Given the description of an element on the screen output the (x, y) to click on. 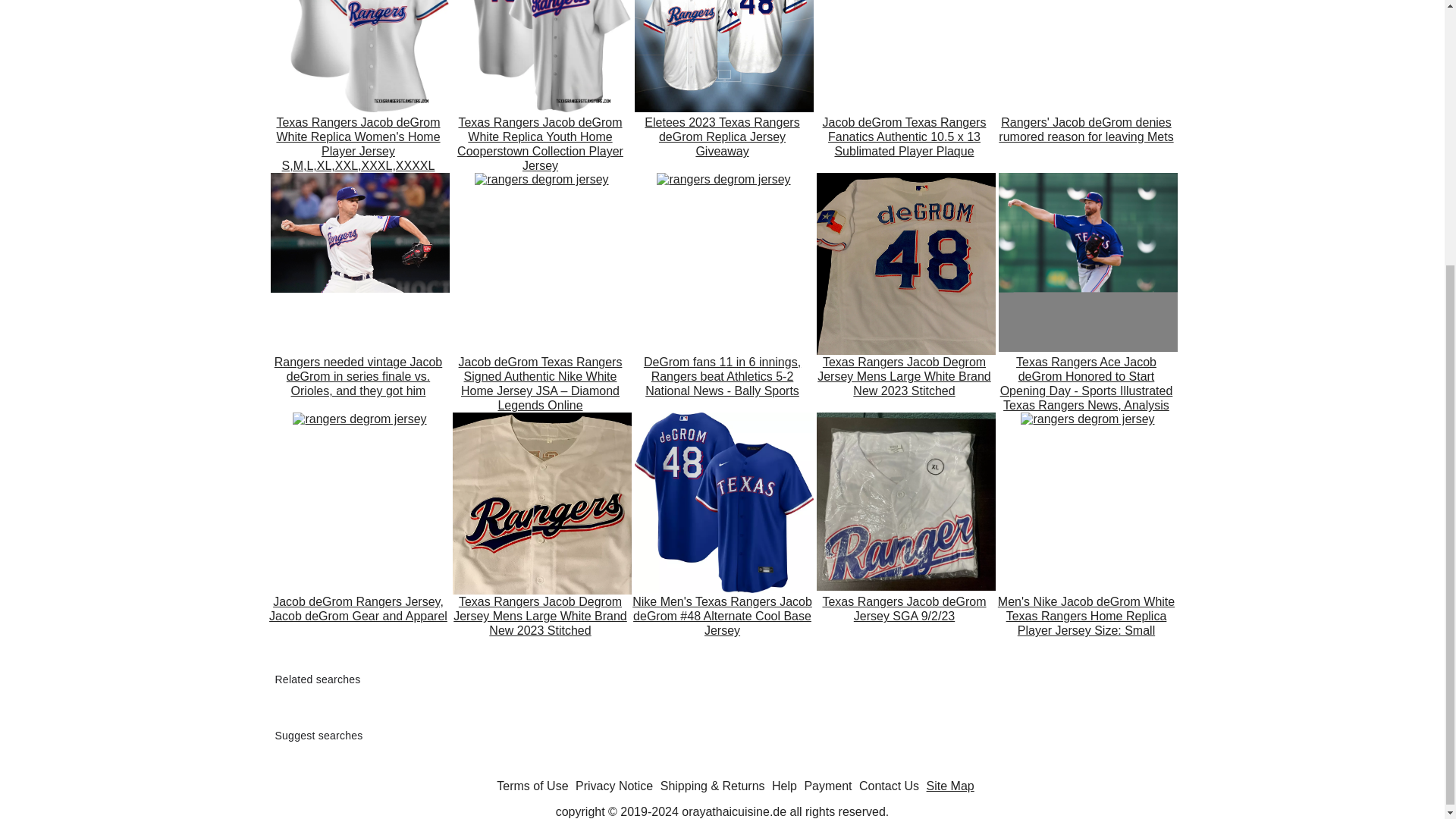
Eletees 2023 Texas Rangers deGrom Replica Jersey Giveaway (721, 143)
rangers degrom jersey (358, 56)
rangers degrom jersey (540, 56)
